Given the description of an element on the screen output the (x, y) to click on. 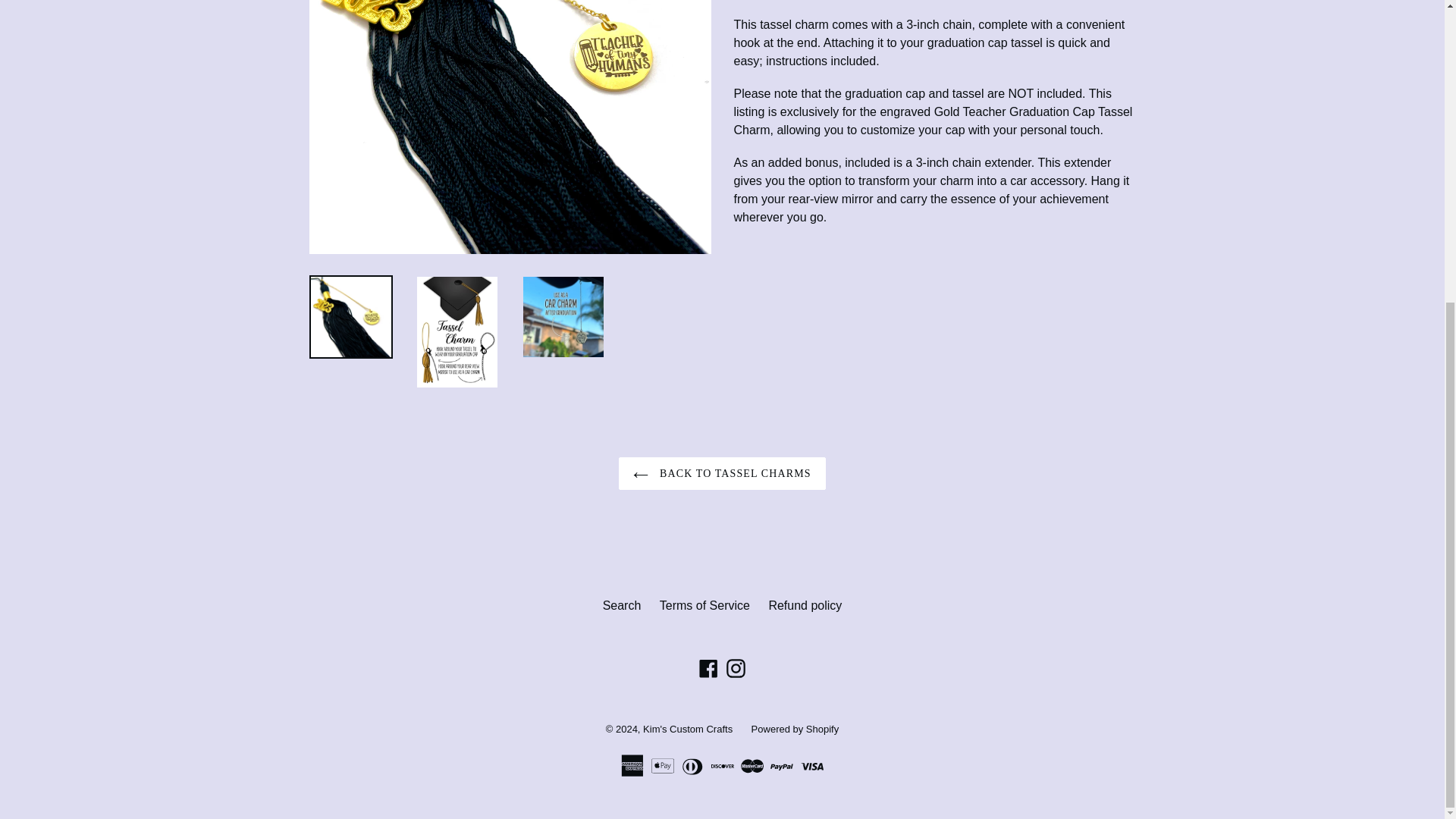
Terms of Service (704, 604)
Instagram (735, 668)
Kim's Custom Crafts on Instagram (735, 668)
Search (622, 604)
Facebook (708, 668)
Kim's Custom Crafts (687, 728)
BACK TO TASSEL CHARMS (721, 473)
Refund policy (804, 604)
Powered by Shopify (795, 728)
Kim's Custom Crafts on Facebook (708, 668)
